Given the description of an element on the screen output the (x, y) to click on. 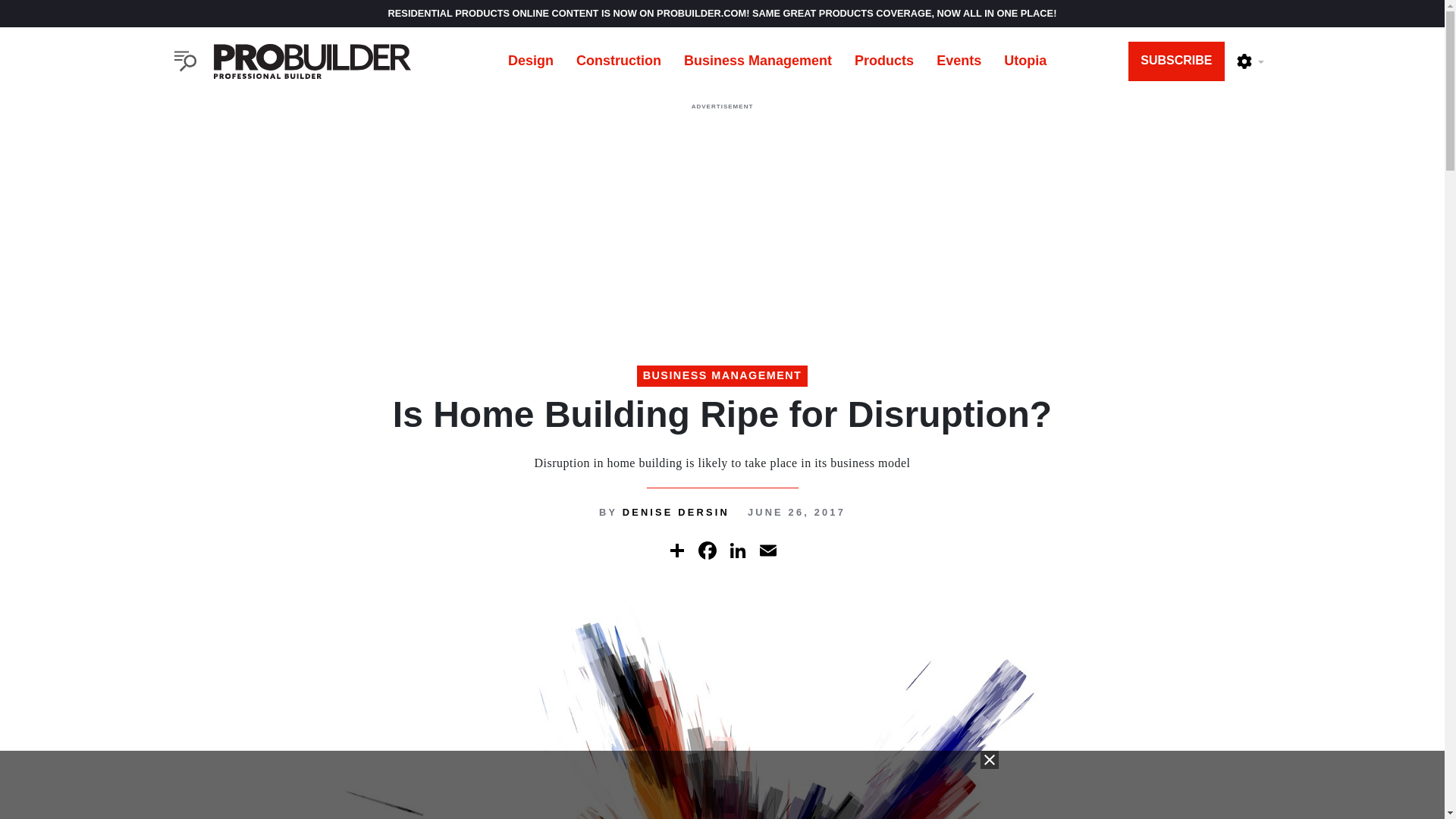
LinkedIn (737, 550)
SUBSCRIBE (1176, 61)
Facebook (706, 550)
Events (958, 60)
true (721, 785)
Email (767, 550)
Products (883, 60)
Utopia (1025, 60)
Construction (618, 60)
BUSINESS MANAGEMENT (722, 375)
DENISE DERSIN (676, 511)
Monday, June 26, 2017 - 06:00 (796, 511)
Design (530, 60)
Business Management (757, 60)
